Given the description of an element on the screen output the (x, y) to click on. 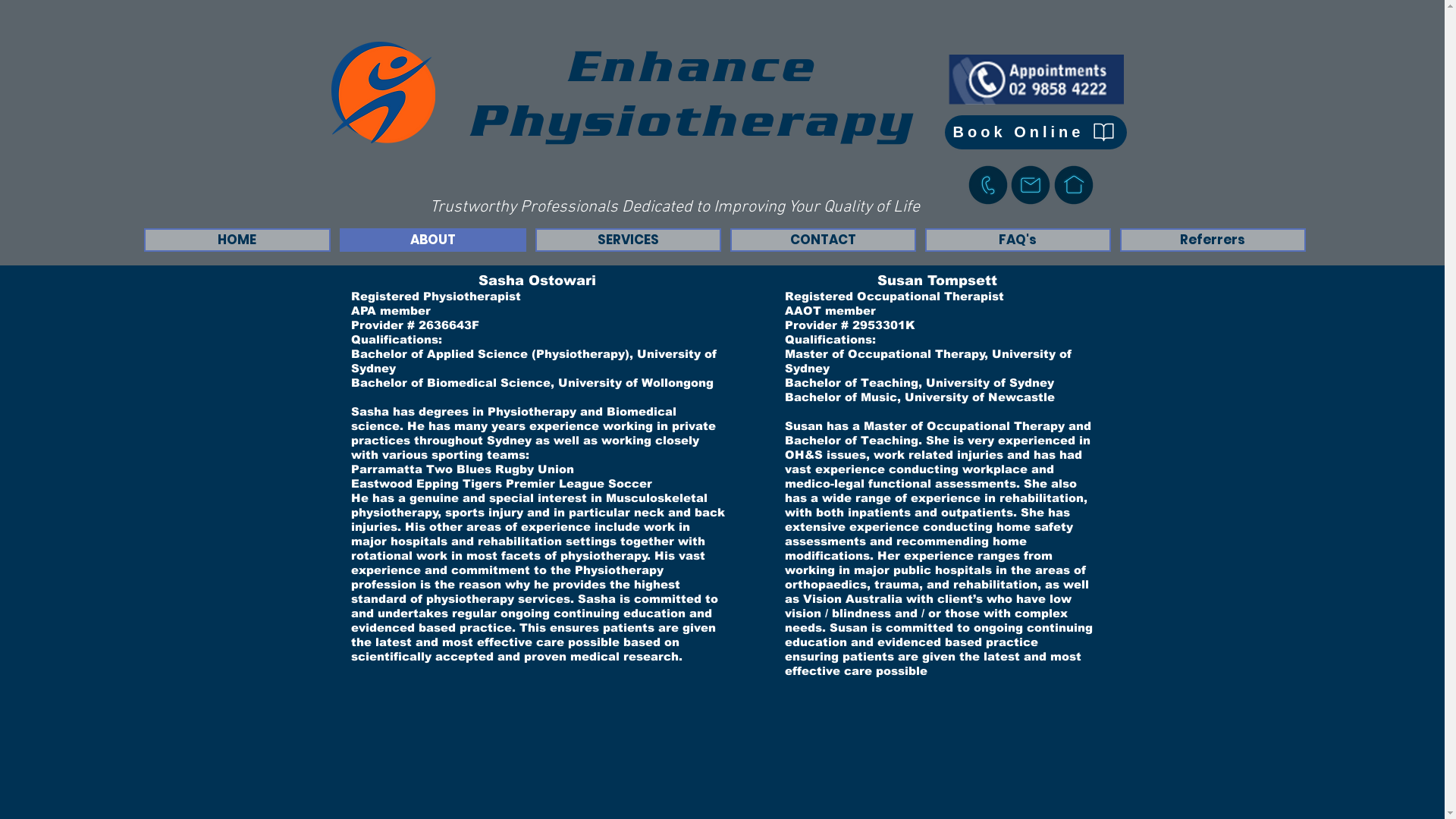
CONTACT Element type: text (822, 239)
HOME Element type: text (237, 239)
FAQ's Element type: text (1017, 239)
SashaO.png Element type: hover (382, 92)
Referrers Element type: text (1212, 239)
appointment link.png Element type: hover (1035, 79)
Book Online Element type: text (1035, 132)
ABOUT Element type: text (432, 239)
